Given the description of an element on the screen output the (x, y) to click on. 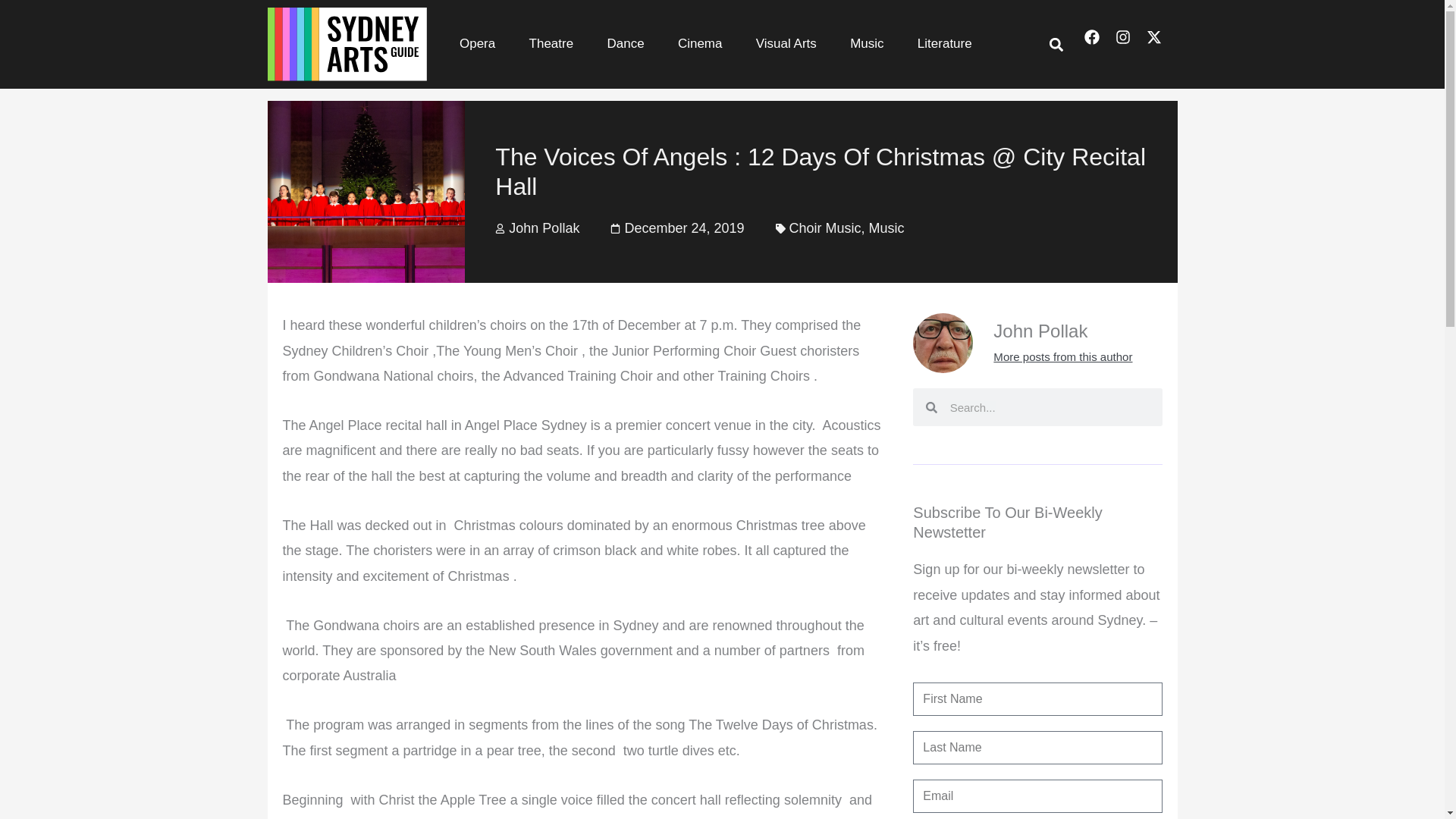
Cinema (700, 44)
Theatre (550, 44)
John Pollak (537, 228)
X-twitter (1161, 44)
Opera (477, 44)
December 24, 2019 (677, 228)
Literature (944, 44)
Instagram (1130, 44)
Dance (625, 44)
Choir Music (824, 227)
